Given the description of an element on the screen output the (x, y) to click on. 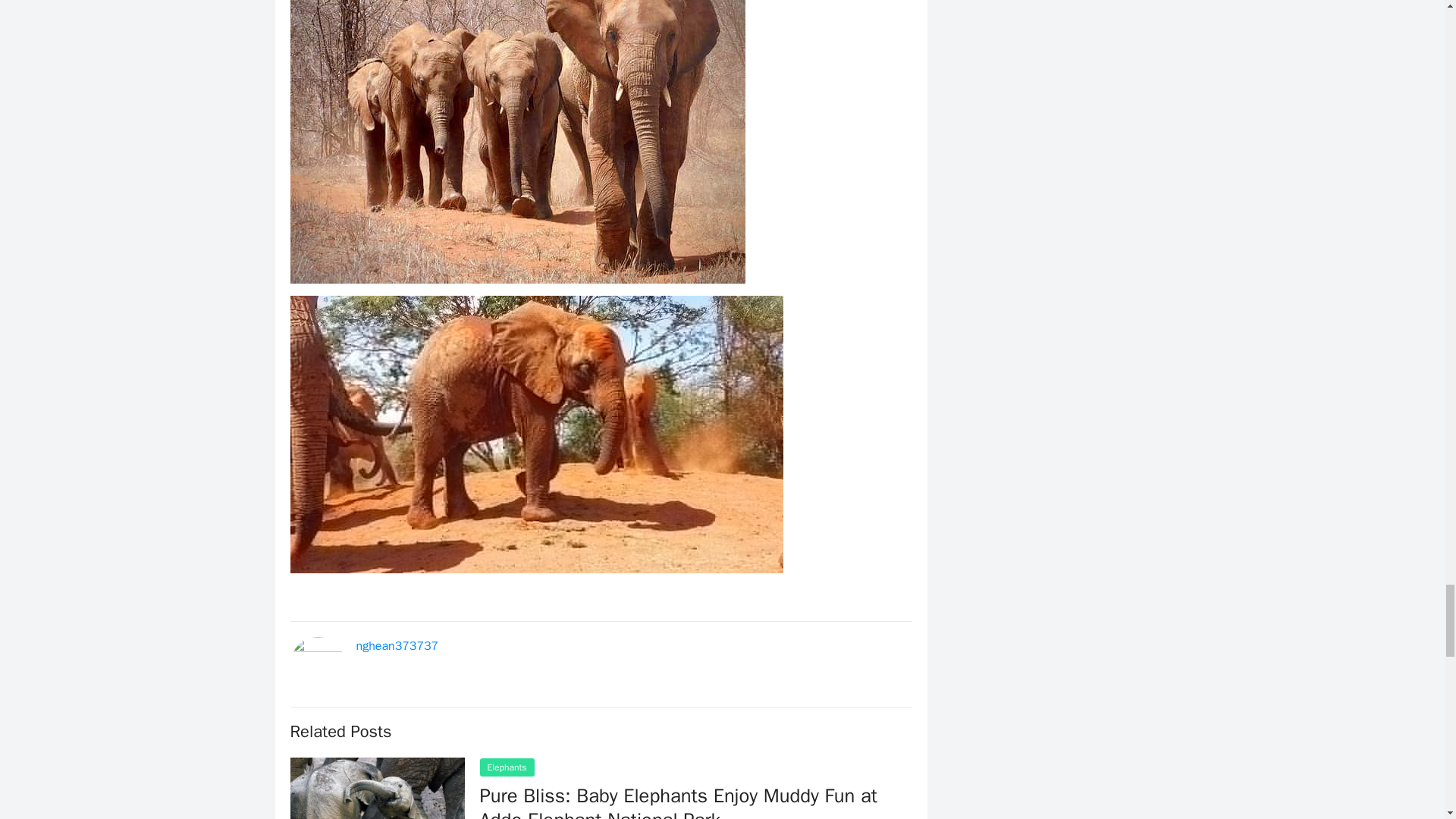
nghean373737 (397, 645)
Elephants (506, 767)
